Given the description of an element on the screen output the (x, y) to click on. 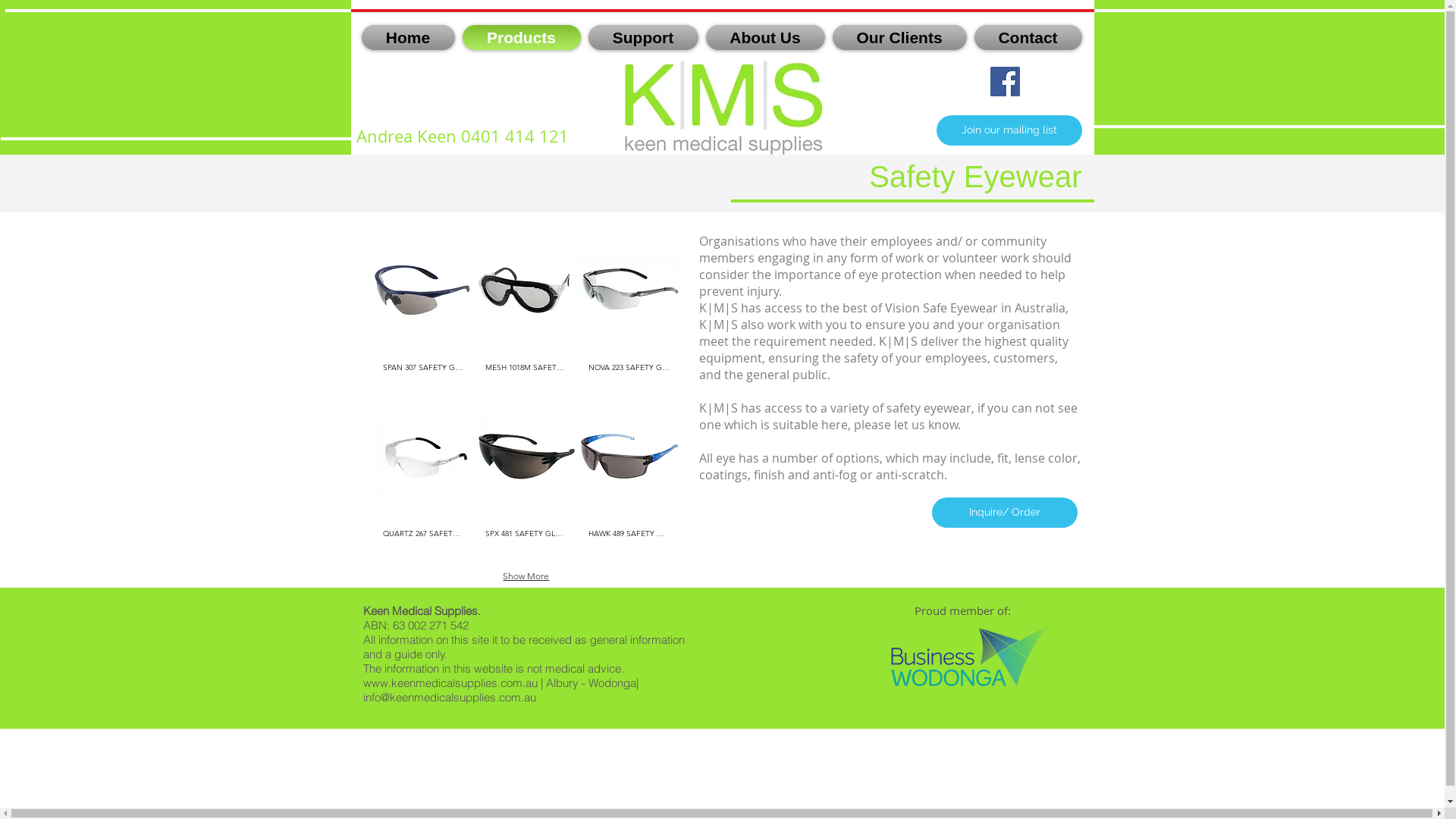
Show More Element type: text (526, 575)
www.keenmedicalsupplies.com.au Element type: text (449, 682)
About Us Element type: text (765, 37)
Home Element type: text (409, 37)
Contact Element type: text (1026, 37)
Inquire/ Order Element type: text (1003, 512)
Join our mailing list Element type: text (1008, 130)
Support Element type: text (642, 37)
Our Clients Element type: text (898, 37)
Products Element type: text (520, 37)
Andrea Keen 0401 414 121 Element type: text (462, 136)
info@keenmedicalsupplies.com.au Element type: text (448, 697)
